Given the description of an element on the screen output the (x, y) to click on. 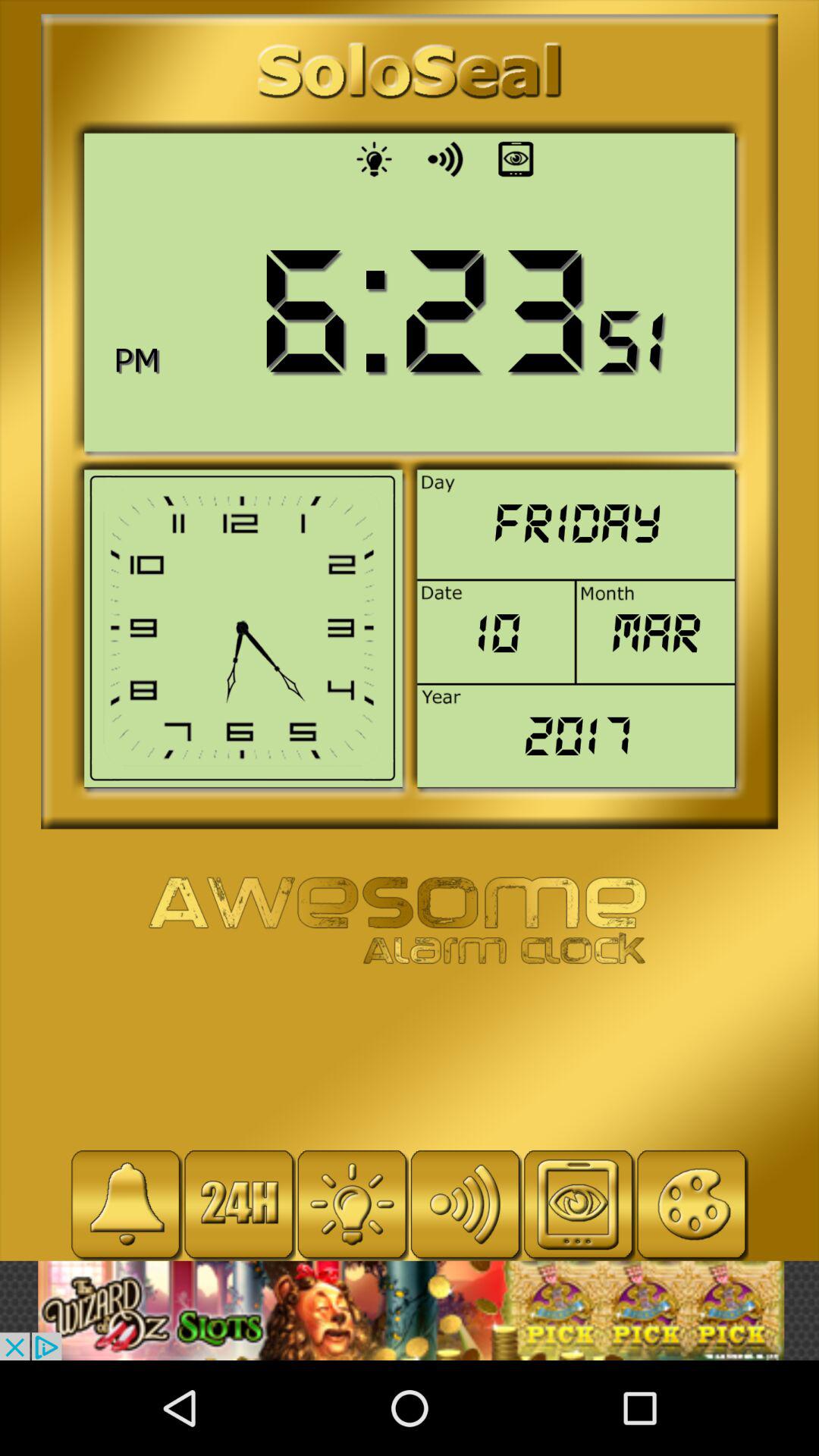
click on the button which is next to the speaker (516, 158)
click on the third button below the text soloseal (516, 158)
click on bulb icon beside 24h in the bottom (351, 1204)
click on the paint icon (691, 1204)
click on the wi fi icon (465, 1204)
click the button on the left to the corner button on the bottom right side of the web page (578, 1204)
click on the icon right to 24h (351, 1204)
select the text which is below the clock (409, 921)
